Given the description of an element on the screen output the (x, y) to click on. 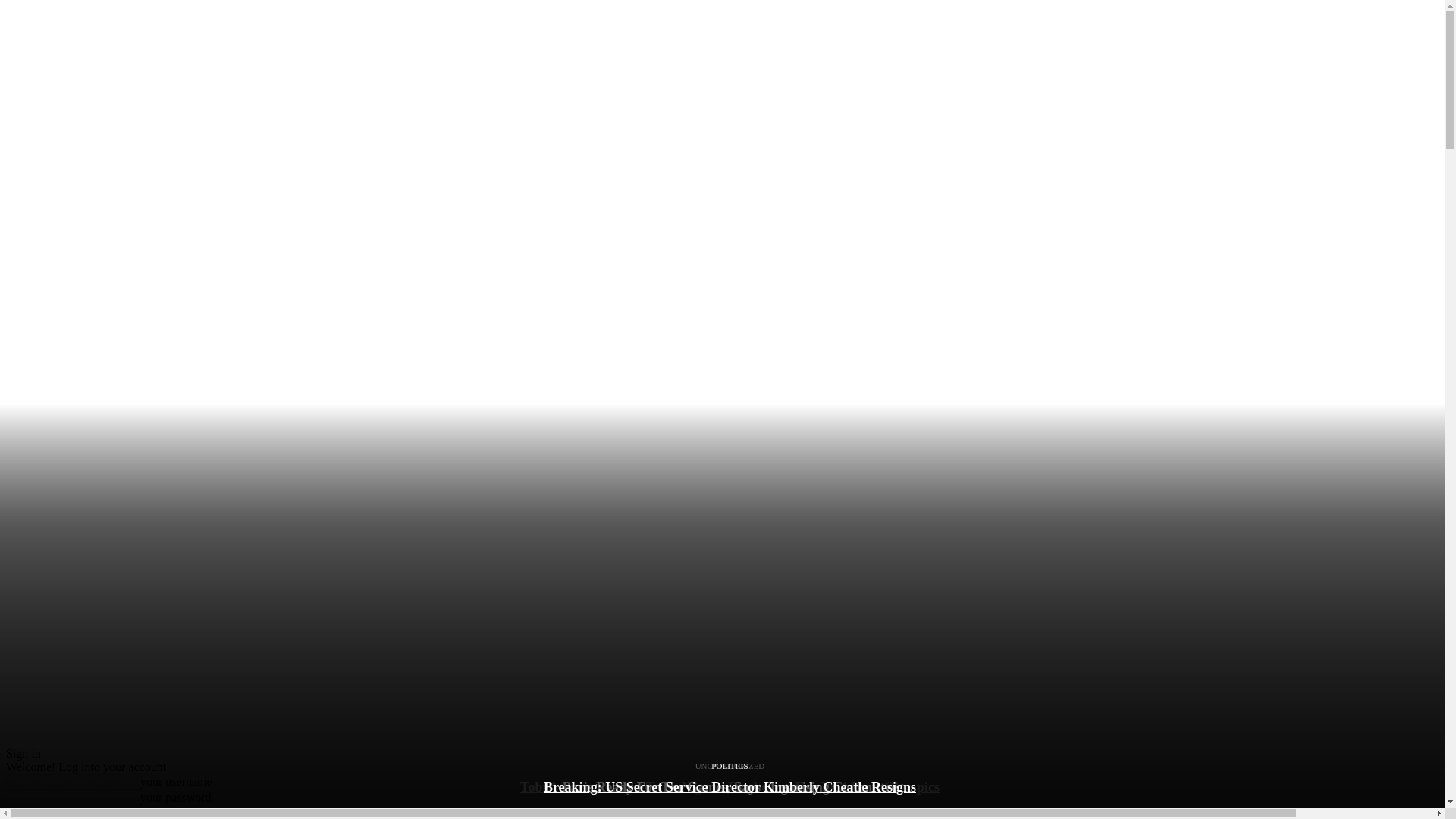
Login (24, 812)
